Given the description of an element on the screen output the (x, y) to click on. 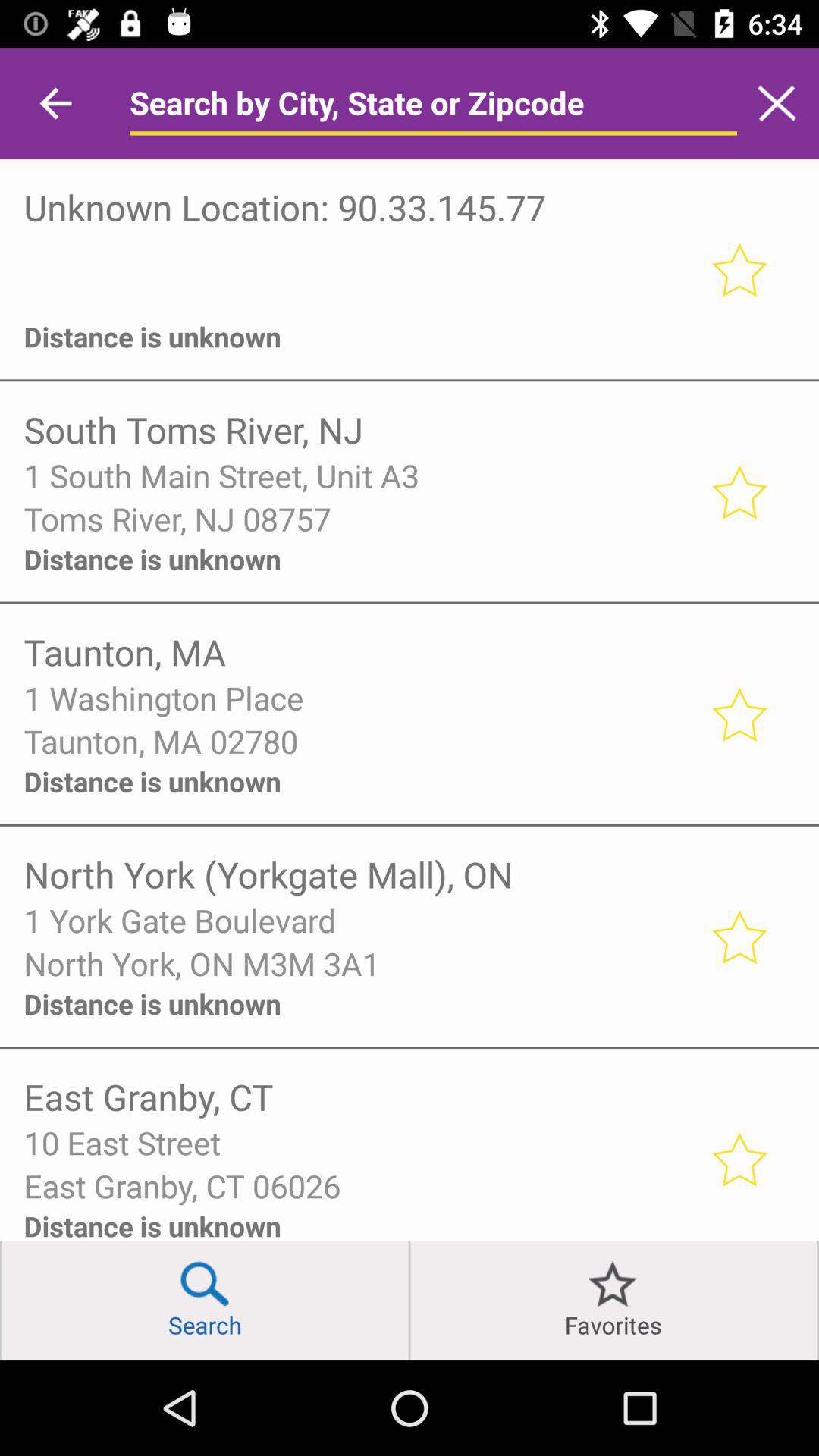
tap the item above (356, 252)
